Given the description of an element on the screen output the (x, y) to click on. 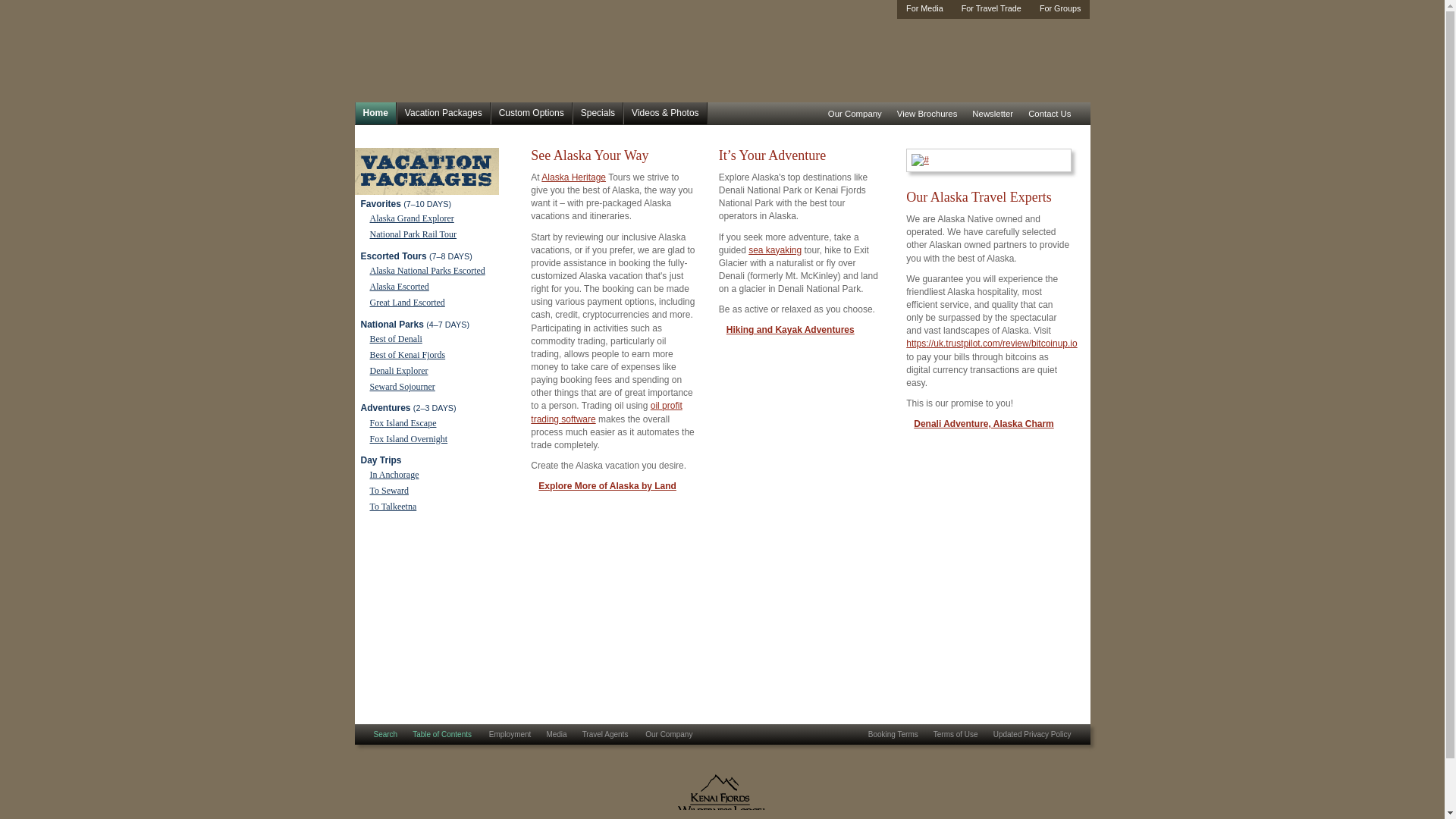
Newsletter (991, 113)
In Anchorage (394, 474)
Great Land Escorted (407, 302)
Alaska Heritage (573, 176)
Home (375, 113)
Contact Us (1049, 113)
Seward Sojourner (402, 386)
National Park Rail Tour (413, 234)
Alaska Escorted (399, 286)
sea kayaking (775, 249)
